Given the description of an element on the screen output the (x, y) to click on. 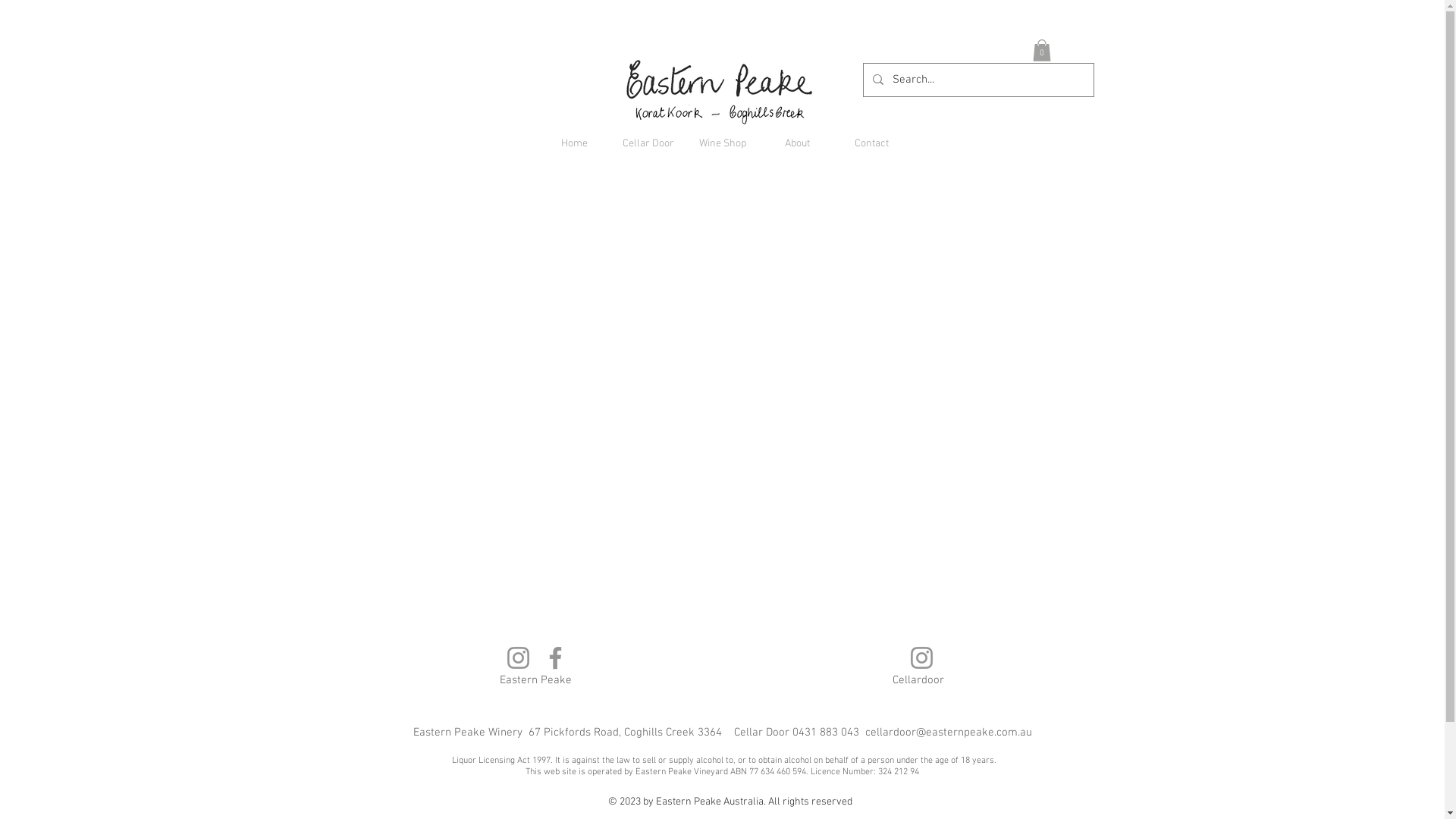
LATTA VINO Logo.png Element type: hover (719, 88)
Wine Shop Element type: text (722, 143)
Home Element type: text (573, 143)
cellardoor@easternpeake.com.au Element type: text (947, 732)
Cellar Door Element type: text (648, 143)
Contact Element type: text (871, 143)
0 Element type: text (1041, 50)
About Element type: text (796, 143)
